Given the description of an element on the screen output the (x, y) to click on. 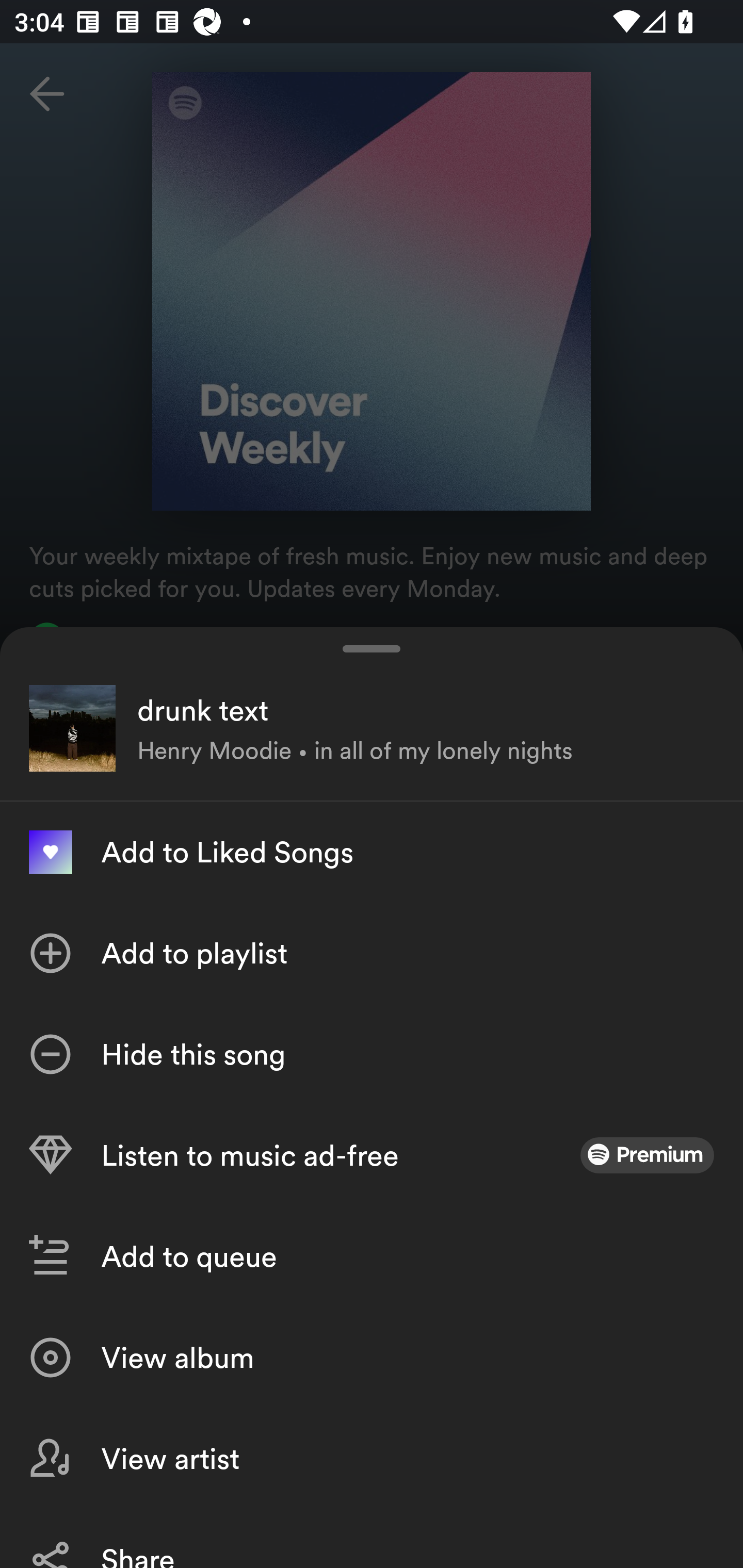
Add to Liked Songs (371, 852)
Add to playlist (371, 953)
Hide this song (371, 1054)
Listen to music ad-free (371, 1155)
Add to queue (371, 1256)
View album (371, 1357)
View artist (371, 1458)
Share (371, 1538)
